Given the description of an element on the screen output the (x, y) to click on. 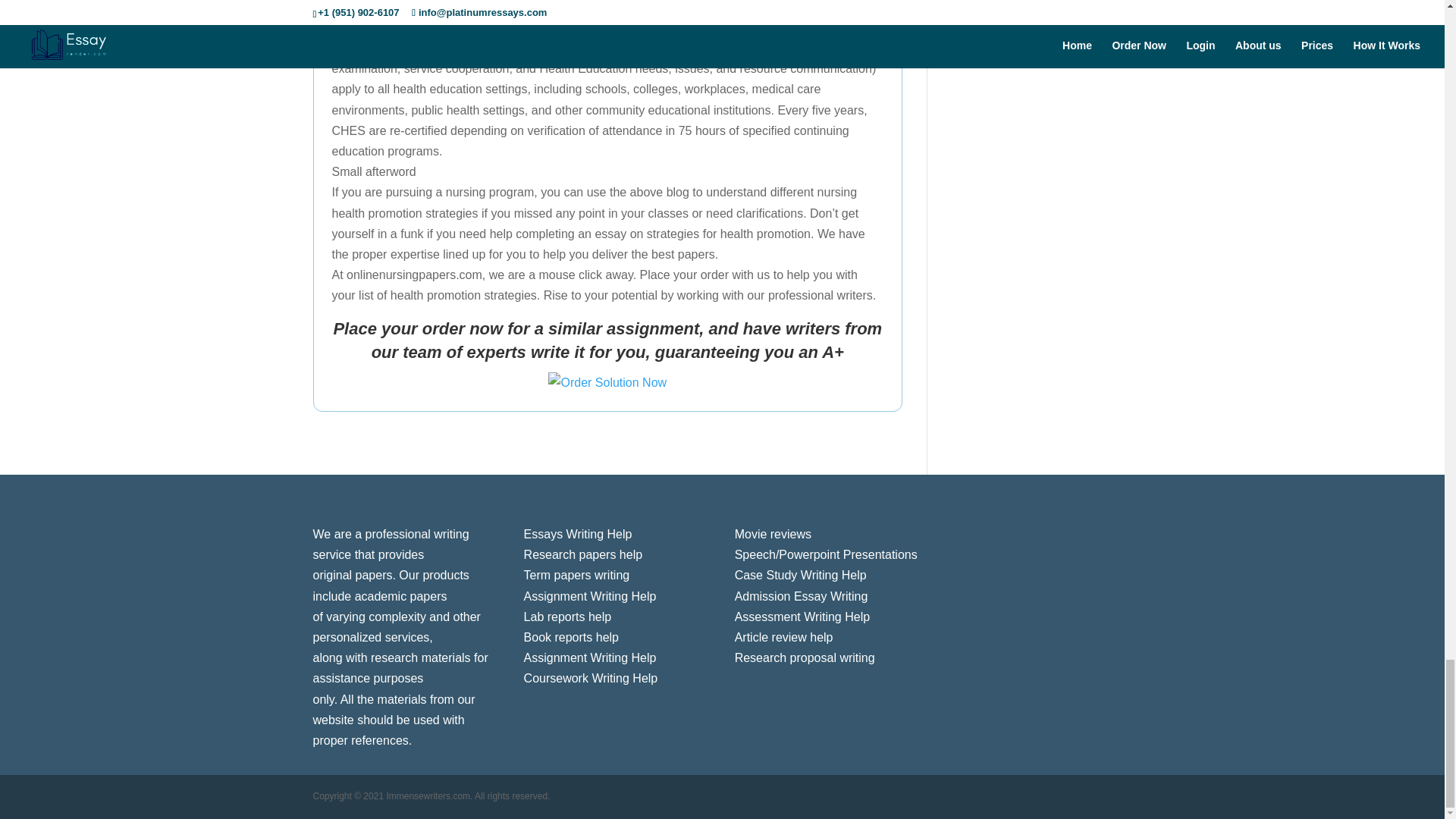
original papers. Our products include academic papers (390, 584)
with proper references. (388, 729)
Research papers help (583, 554)
Case Study Writing Help (800, 574)
We are a professional writing service that provides (390, 544)
Research proposal writing (805, 657)
Movie reviews (772, 533)
Essays Writing Help (577, 533)
only. All the materials from our website should be used (393, 709)
Term papers writing (577, 574)
Book reports help (571, 636)
Assignment Writing Help (590, 657)
Article review help (783, 636)
Coursework Writing Help (591, 677)
along with research materials for assistance purposes (400, 667)
